Given the description of an element on the screen output the (x, y) to click on. 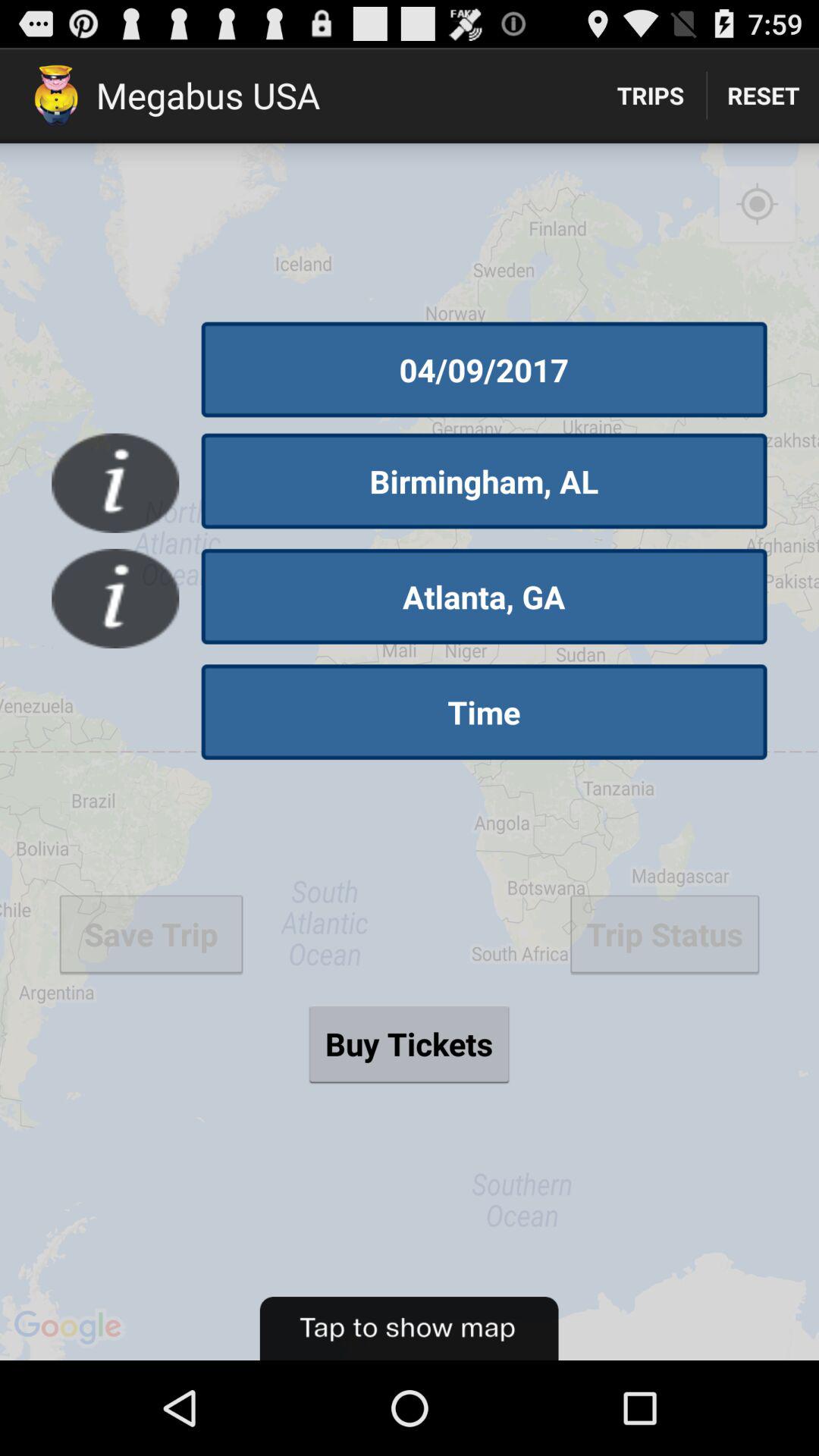
click the button below 04/09/2017 icon (484, 480)
